Given the description of an element on the screen output the (x, y) to click on. 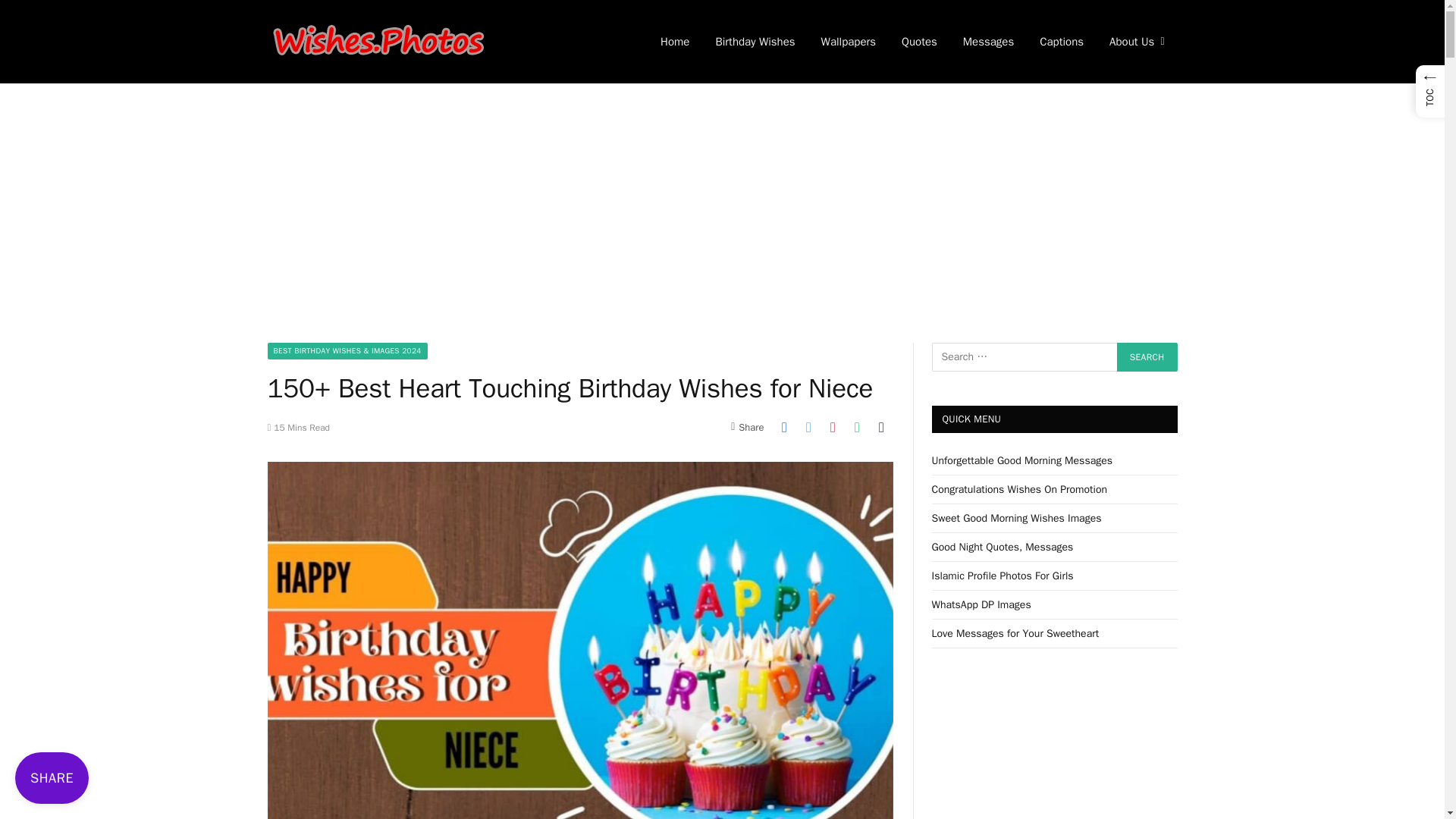
Birthday Wishes (754, 41)
Search (1146, 357)
About Us (1136, 41)
Search (1146, 357)
Share on Facebook (784, 426)
Wishes.Photos (376, 41)
Share on WhatsApp (857, 426)
Wallpapers (848, 41)
Copy Link (881, 426)
